Given the description of an element on the screen output the (x, y) to click on. 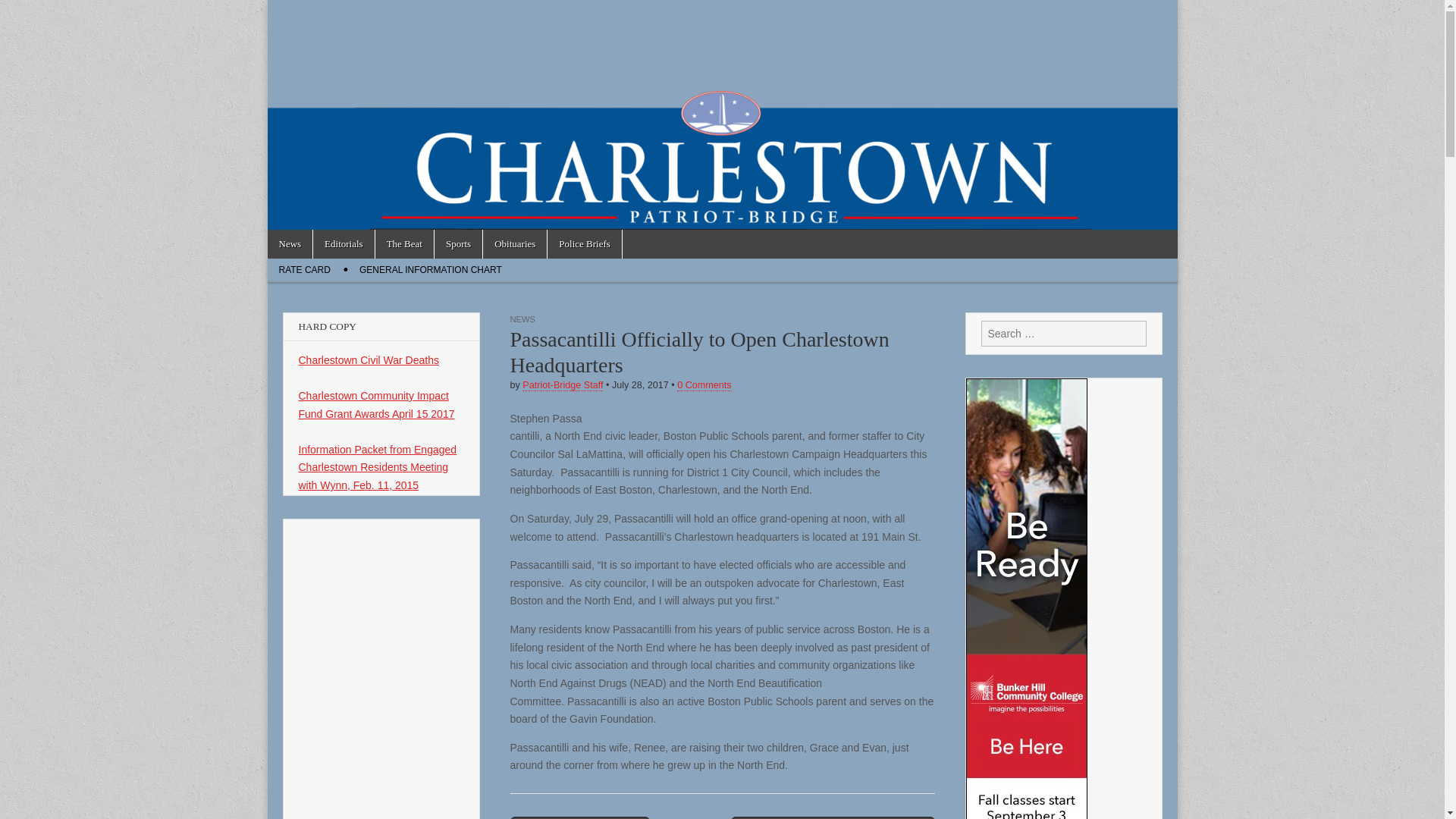
NEWS (522, 318)
Editorials (343, 244)
Obituaries (515, 244)
Police Briefs (584, 244)
Search (23, 12)
The Beat (404, 244)
RATE CARD (303, 269)
Posts by Patriot-Bridge Staff (562, 385)
Patriot-Bridge Staff (562, 385)
GENERAL INFORMATION CHART (430, 269)
News (289, 244)
0 Comments (703, 385)
Charlestown Civil War Deaths (368, 359)
Charlestown Community Impact Fund Grant Awards April 15 2017 (376, 404)
